Given the description of an element on the screen output the (x, y) to click on. 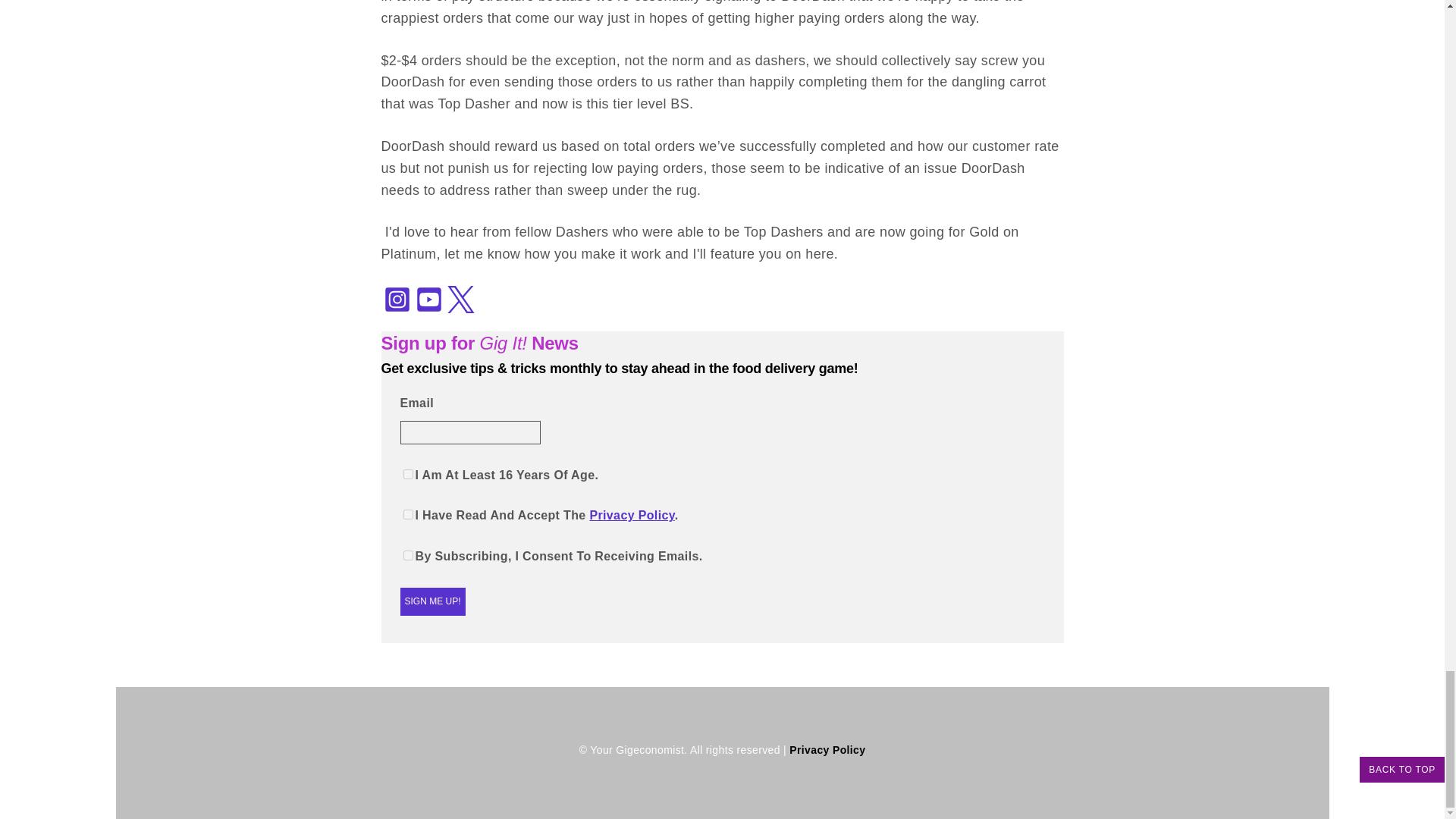
Privacy Policy (631, 514)
Instagram (396, 298)
YouTube (428, 298)
on (408, 474)
SIGN ME UP! (432, 601)
on (408, 514)
on (408, 555)
Twitter (460, 298)
Privacy Policy (826, 749)
